Given the description of an element on the screen output the (x, y) to click on. 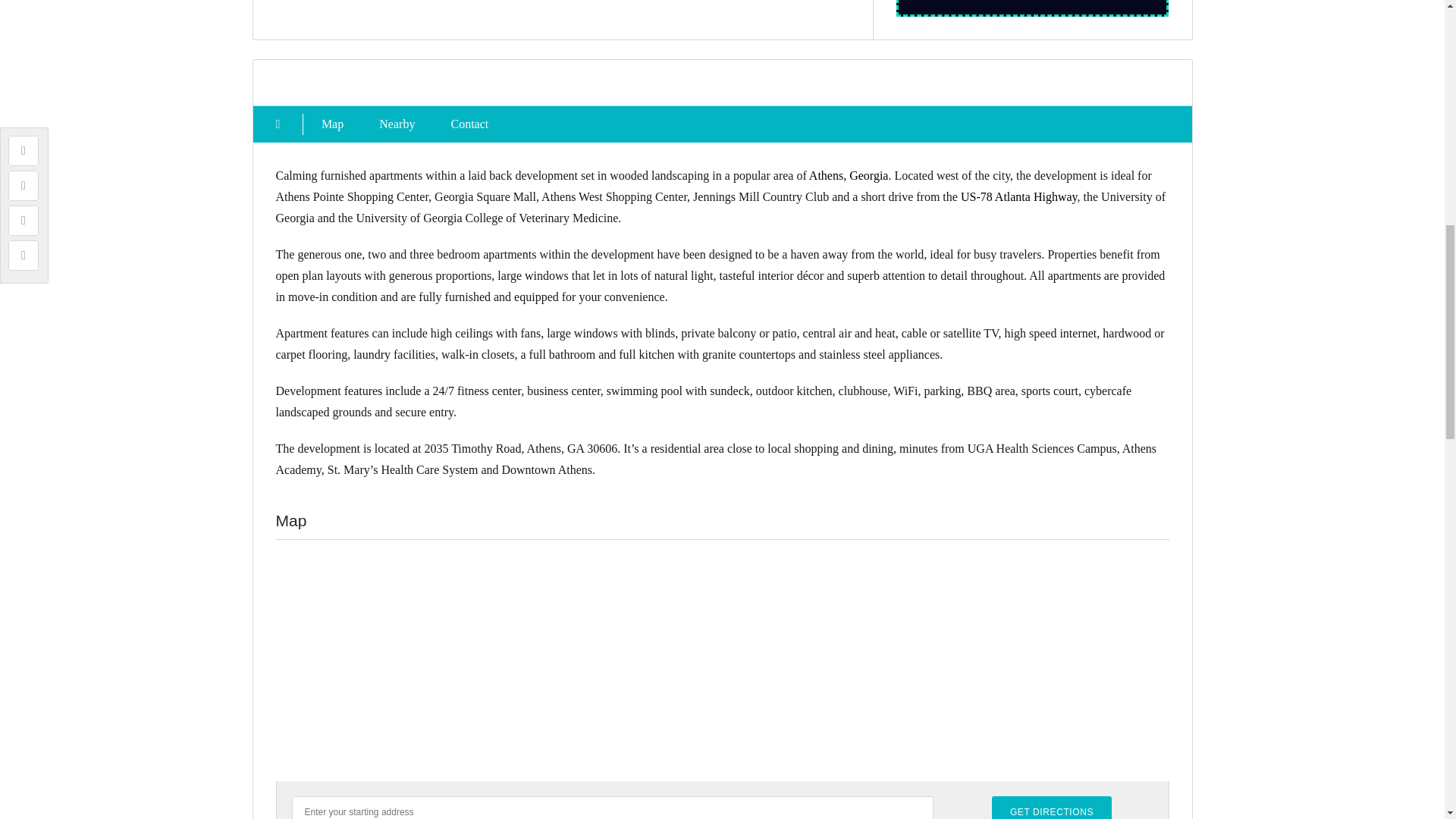
get directions (1051, 807)
Athens, Georgia (848, 174)
Map (332, 123)
Nearby (396, 123)
Contact (468, 123)
US-78 Atlanta Highway (1018, 196)
get directions (1051, 807)
